Given the description of an element on the screen output the (x, y) to click on. 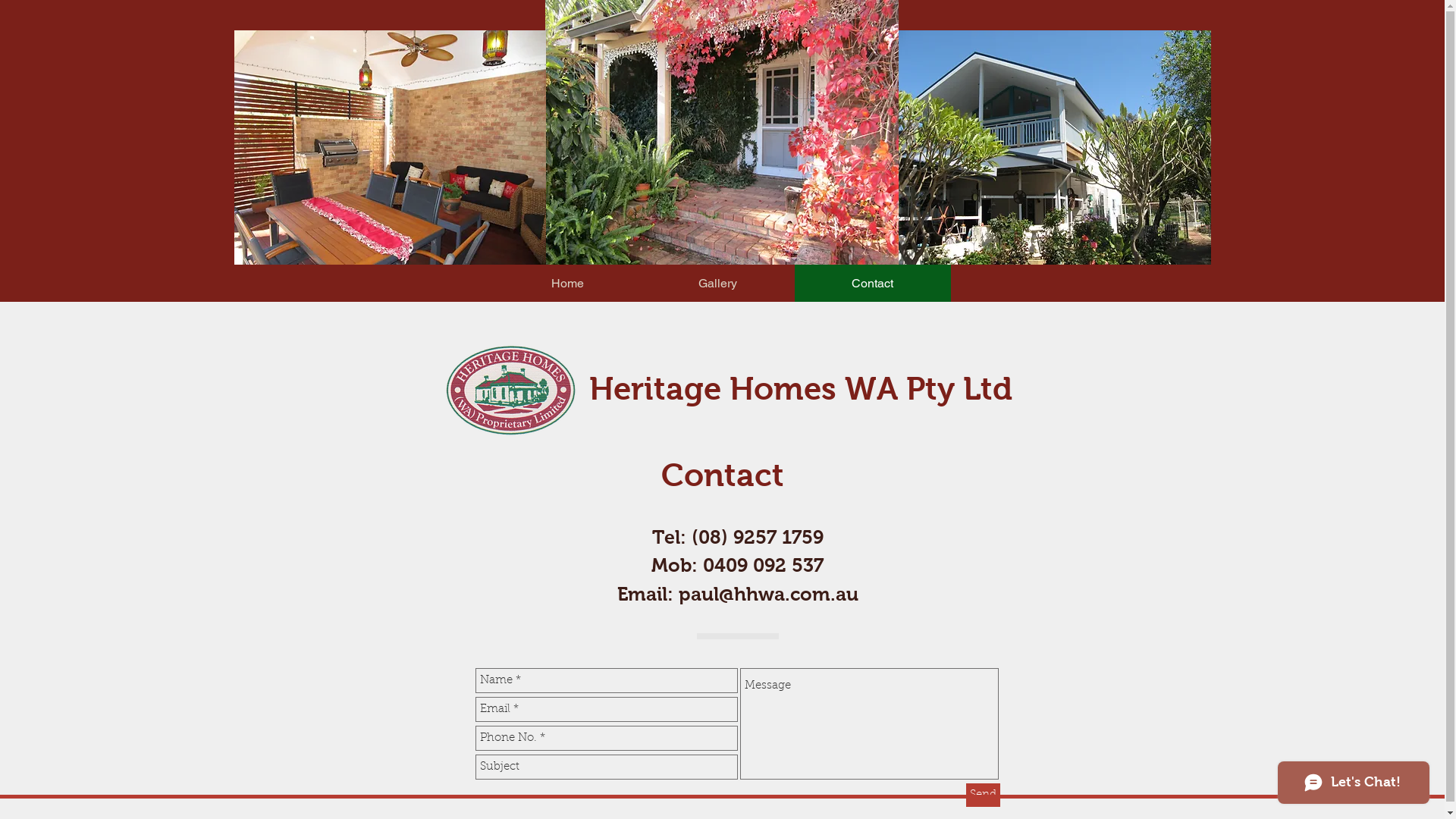
paul@hhwa.com.au Element type: text (767, 593)
hhwa logo trimmmed.png Element type: hover (510, 390)
Contact Element type: text (872, 282)
Gallery Element type: text (717, 282)
Home Element type: text (566, 282)
Send Element type: text (983, 794)
